Given the description of an element on the screen output the (x, y) to click on. 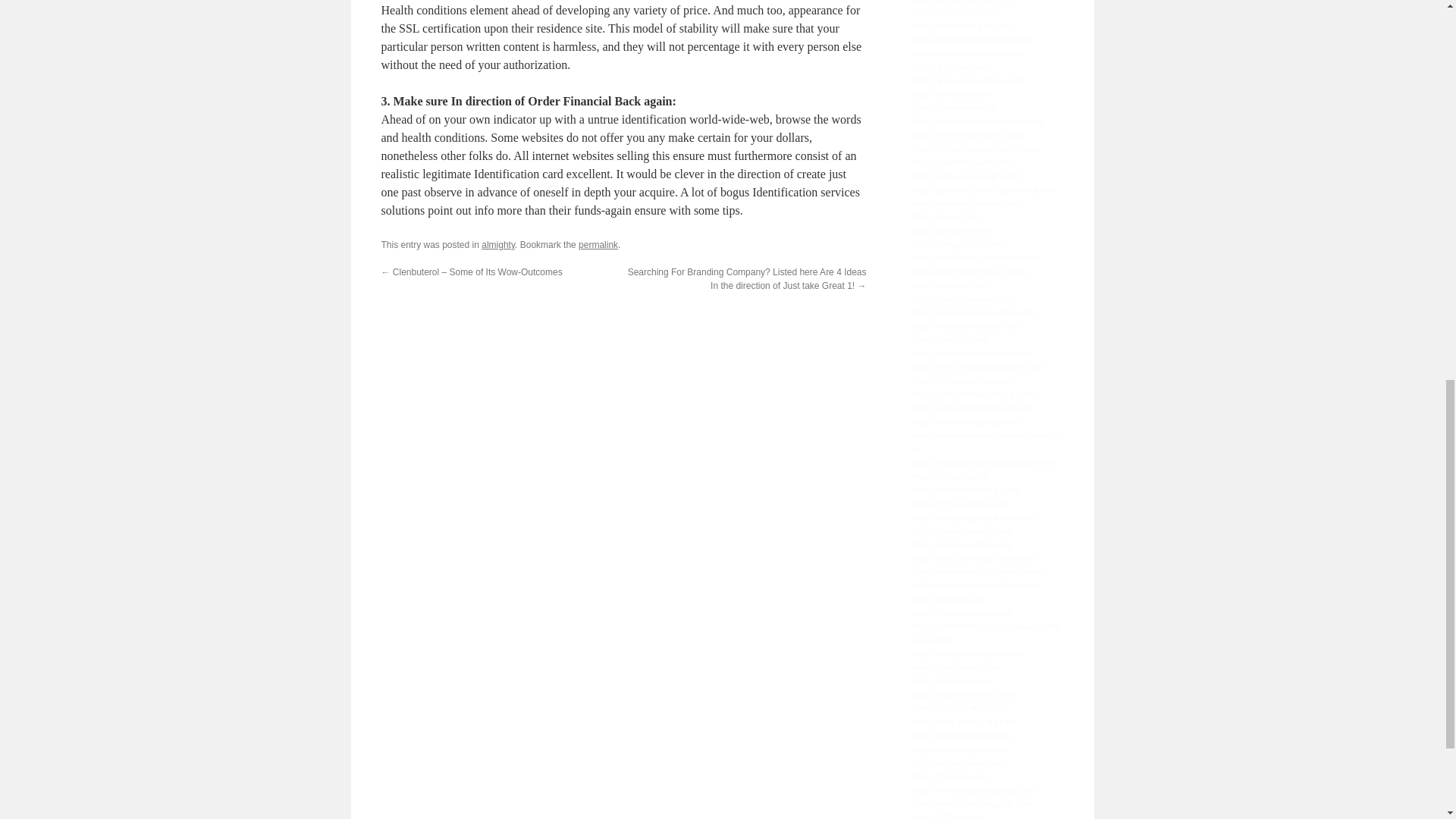
almighty (498, 244)
permalink (597, 244)
